Given the description of an element on the screen output the (x, y) to click on. 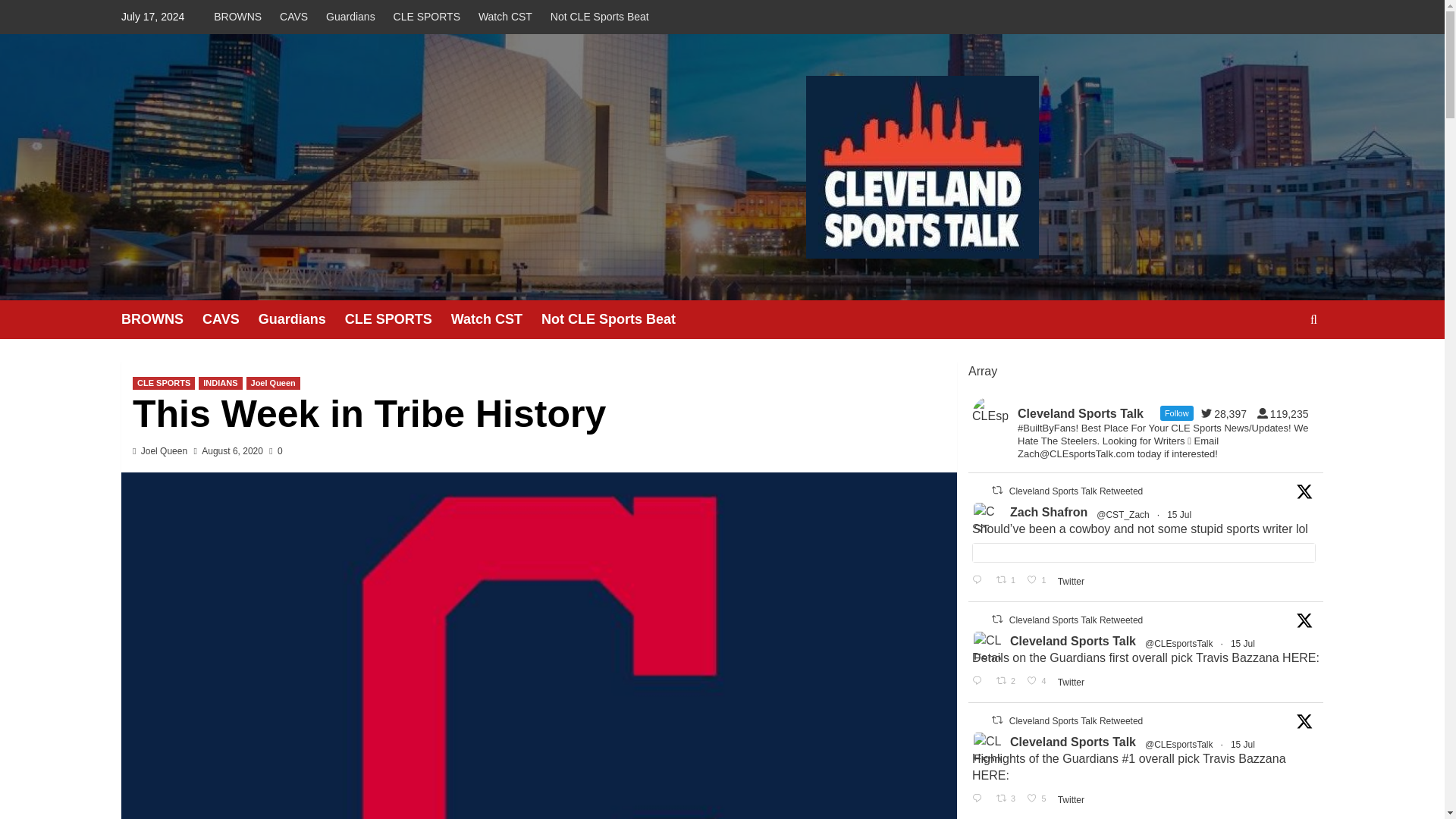
CAVS (230, 319)
Joel Queen (272, 382)
CLE SPORTS (163, 382)
CAVS (293, 17)
CLE SPORTS (398, 319)
Watch CST (505, 17)
Guardians (350, 17)
119,235 Followers (1286, 413)
CLE SPORTS (426, 17)
Watch CST (496, 319)
Not CLE Sports Beat (617, 319)
August 6, 2020 (232, 450)
BROWNS (161, 319)
Guardians (302, 319)
INDIANS (219, 382)
